Given the description of an element on the screen output the (x, y) to click on. 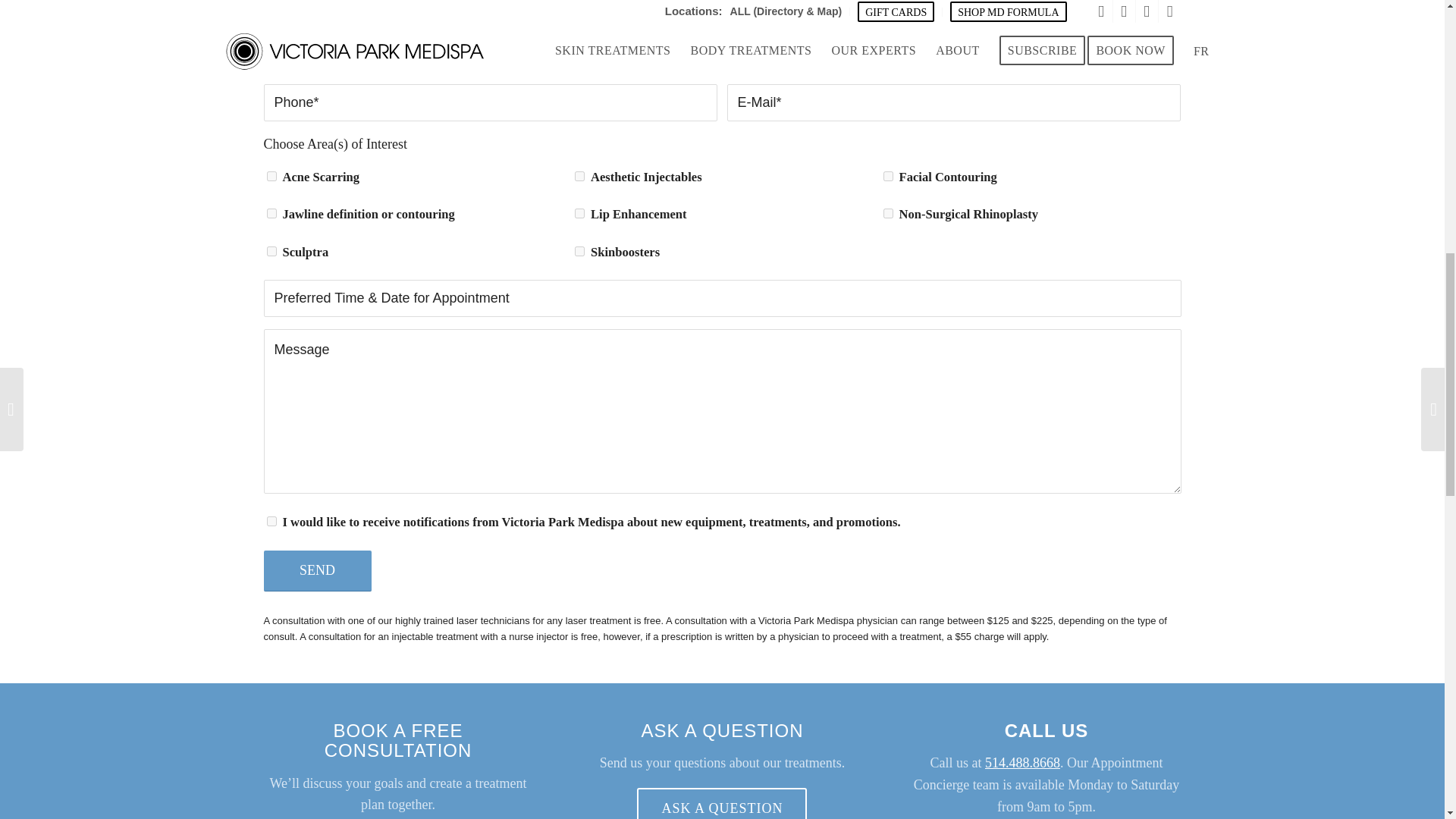
true (271, 521)
Send (317, 570)
true (888, 213)
true (888, 175)
true (580, 213)
true (271, 213)
true (271, 251)
true (580, 175)
true (271, 175)
true (580, 251)
